Given the description of an element on the screen output the (x, y) to click on. 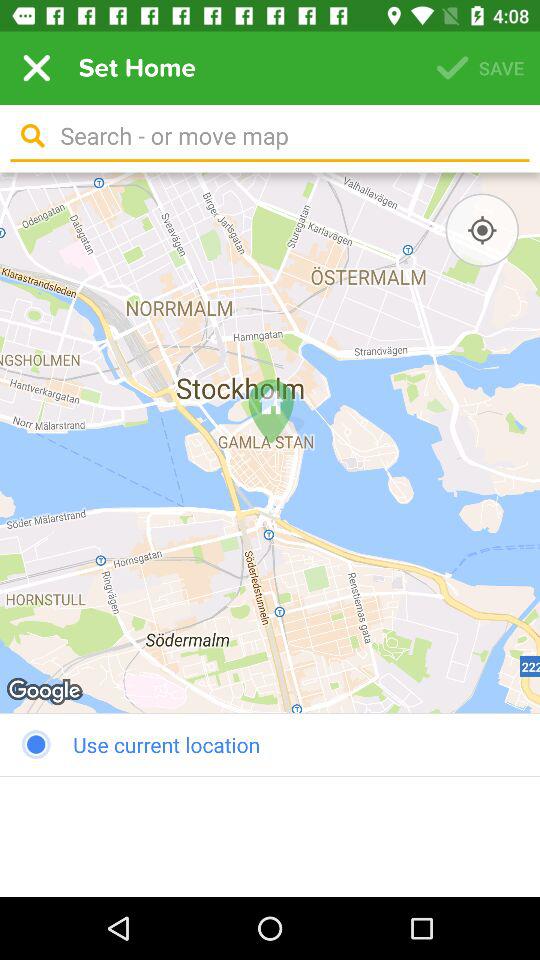
choose icon to the left of the set home icon (36, 68)
